Given the description of an element on the screen output the (x, y) to click on. 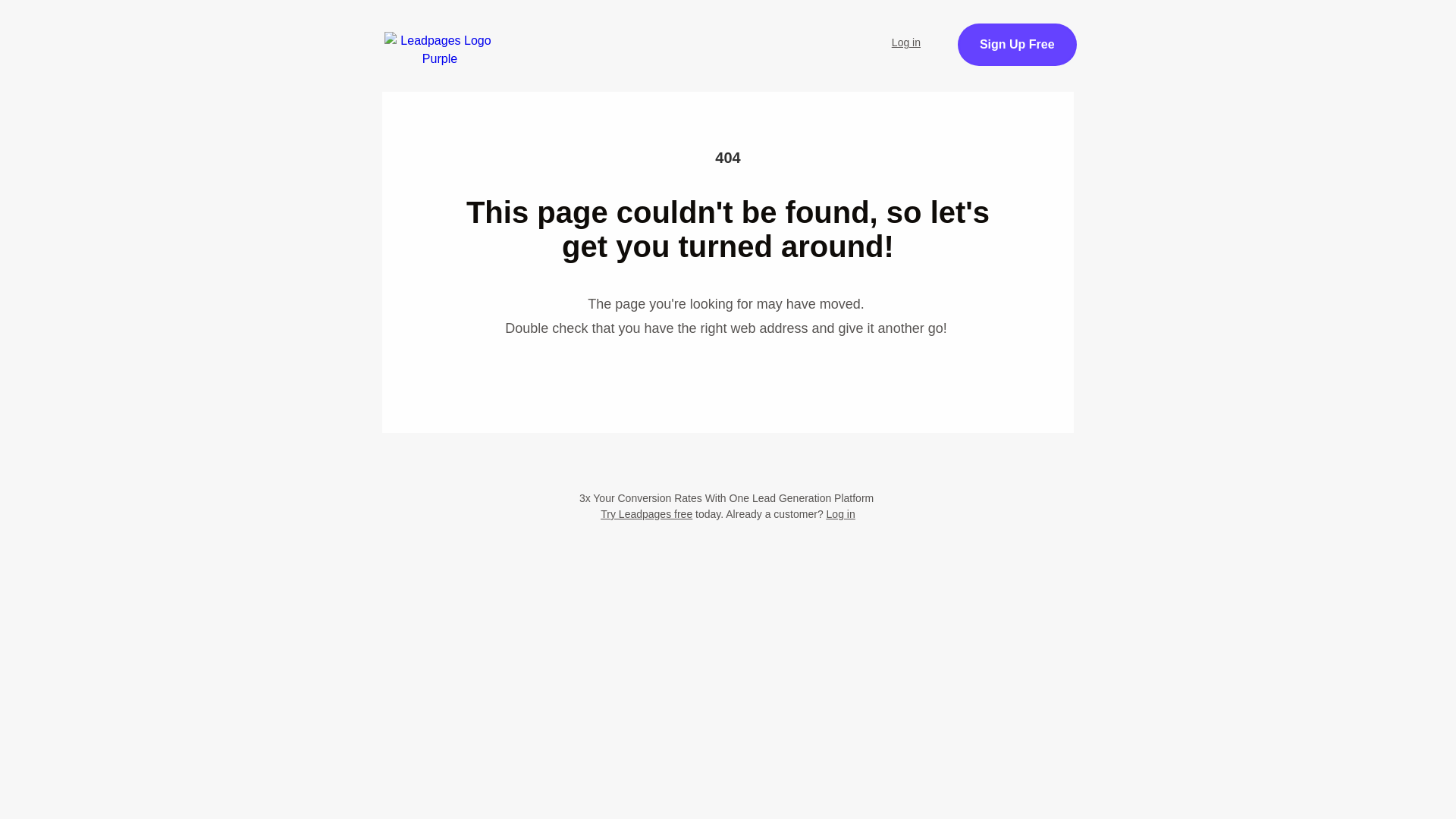
Give To The Ministry (529, 74)
Get Free Book From The Ministry (727, 150)
HOME (501, 33)
Get Free Prophecy (1070, 53)
Our Verse of the Day (791, 33)
Start Spiritual Gifts Test (627, 33)
